Given the description of an element on the screen output the (x, y) to click on. 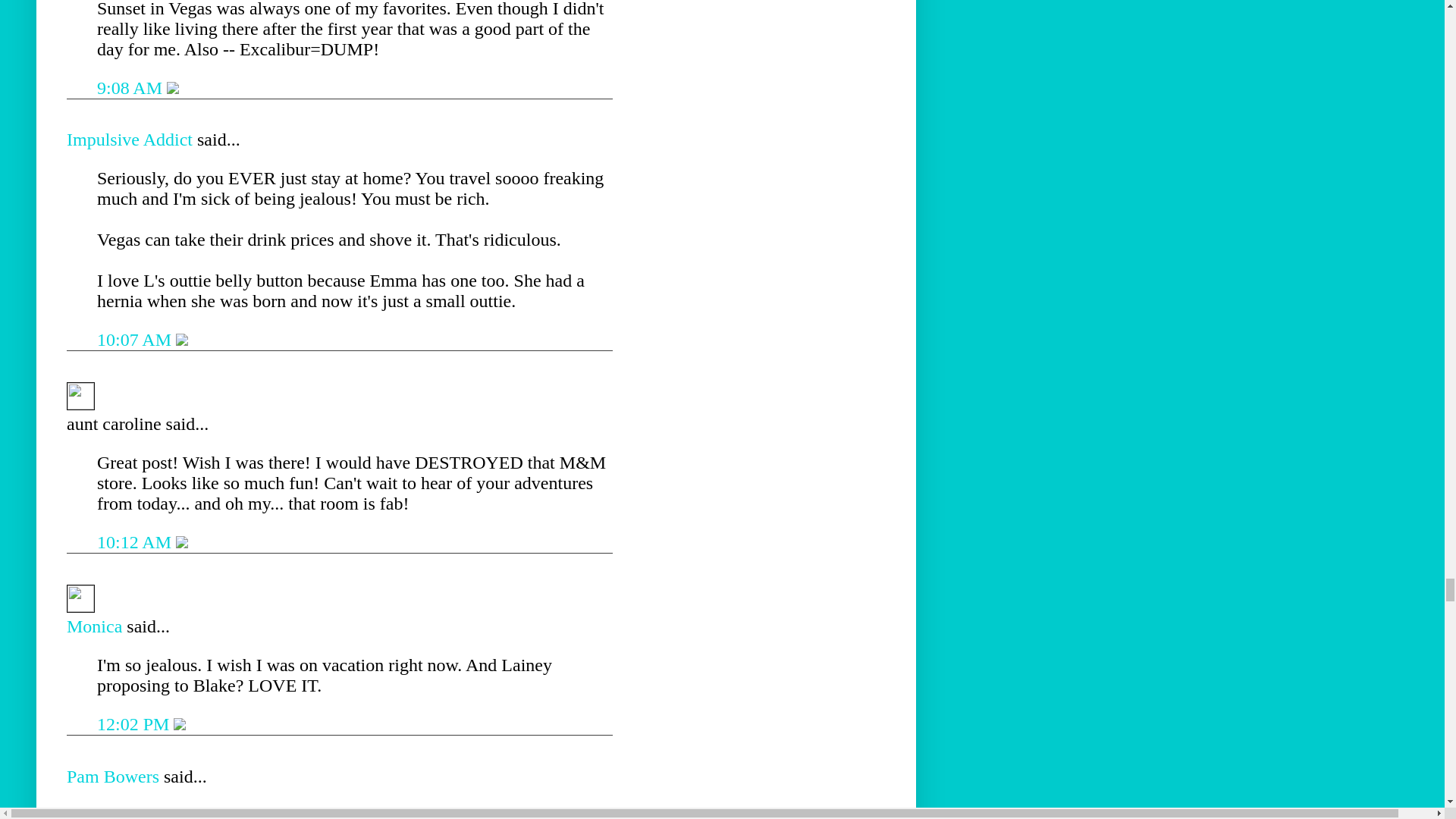
comment permalink (132, 87)
